Given the description of an element on the screen output the (x, y) to click on. 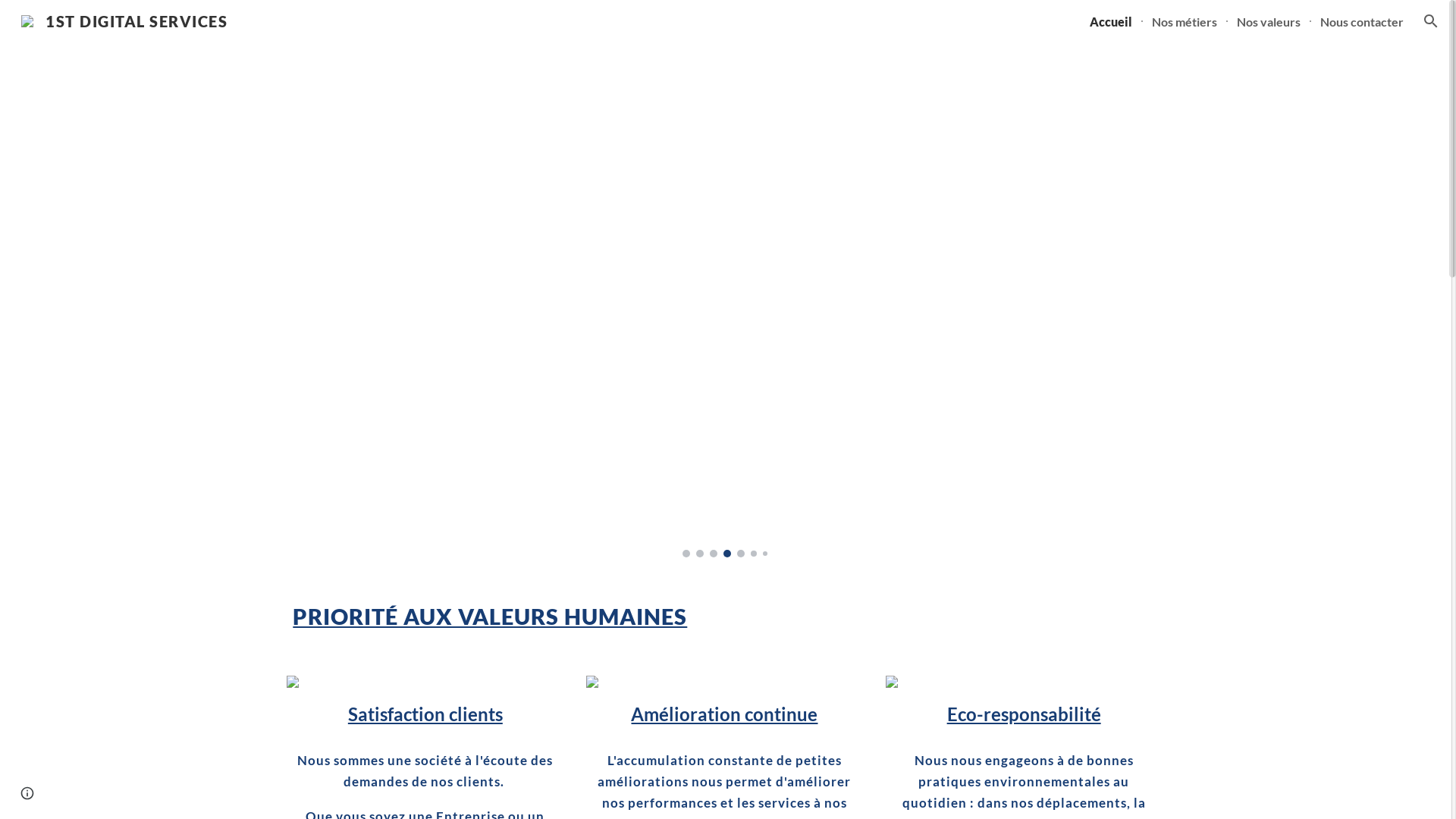
Satisfaction clients Element type: text (425, 713)
Nous contacter Element type: text (1361, 20)
Nos valeurs Element type: text (1268, 20)
Accueil Element type: text (1110, 20)
1ST DIGITAL SERVICES Element type: text (124, 18)
